Given the description of an element on the screen output the (x, y) to click on. 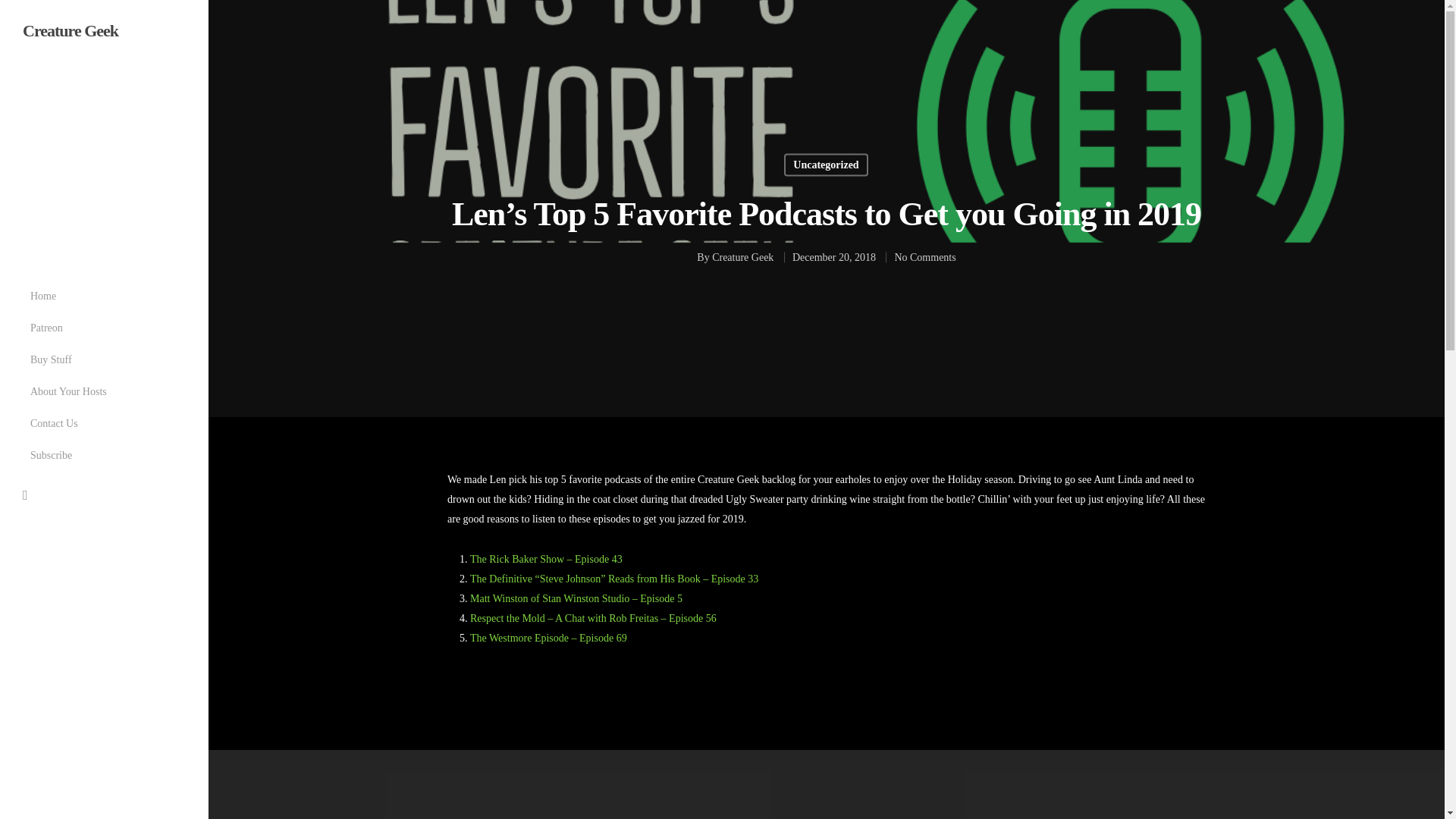
Contact Us (54, 423)
Posts by Creature Geek (742, 256)
Buy Stuff (51, 359)
Uncategorized (825, 164)
About Your Hosts (69, 391)
Home (43, 296)
Creature Geek (70, 30)
Creature Geek (742, 256)
No Comments (924, 256)
Subscribe (51, 455)
